Given the description of an element on the screen output the (x, y) to click on. 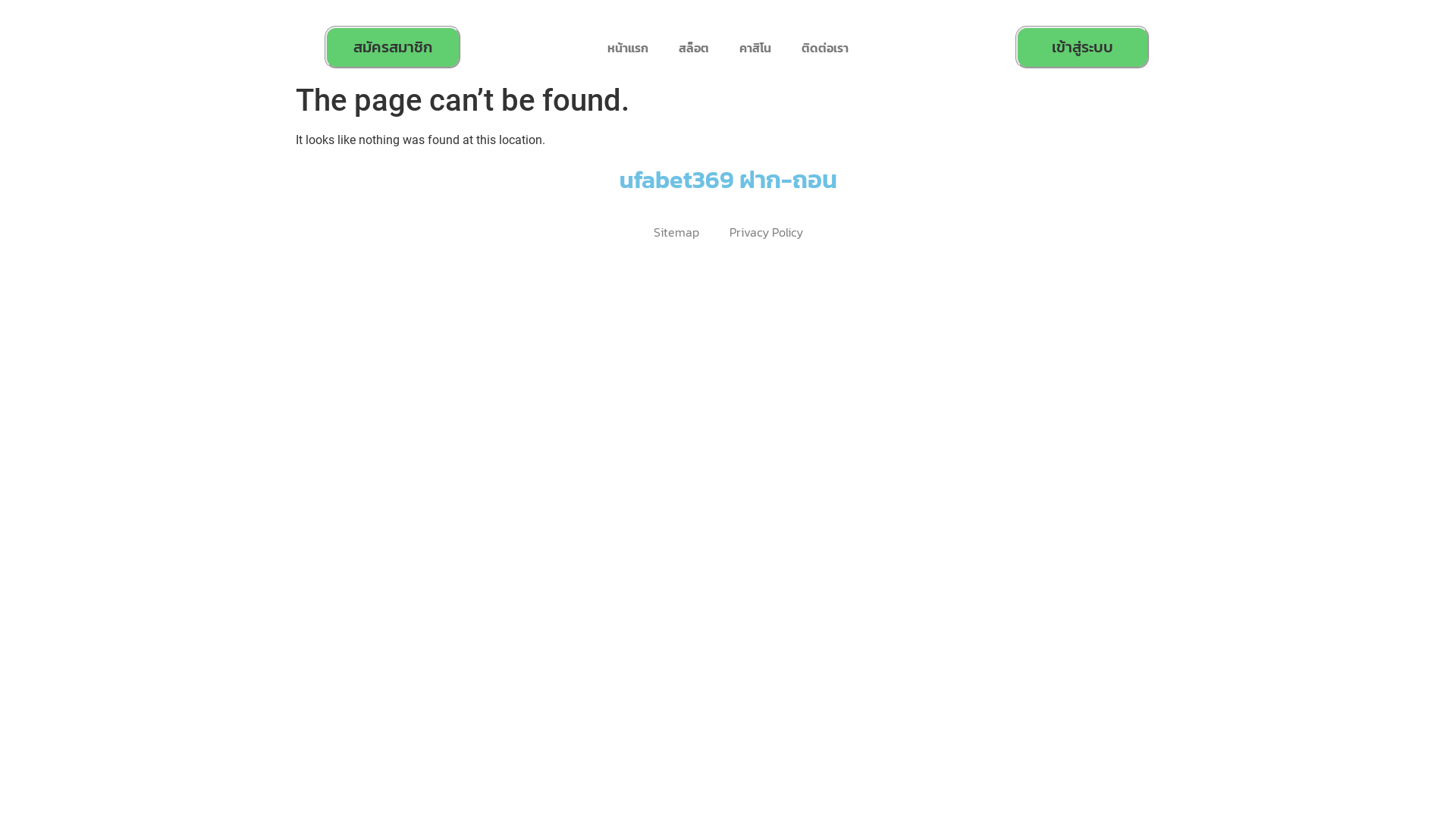
Privacy Policy Element type: text (766, 232)
Sitemap Element type: text (676, 232)
